Given the description of an element on the screen output the (x, y) to click on. 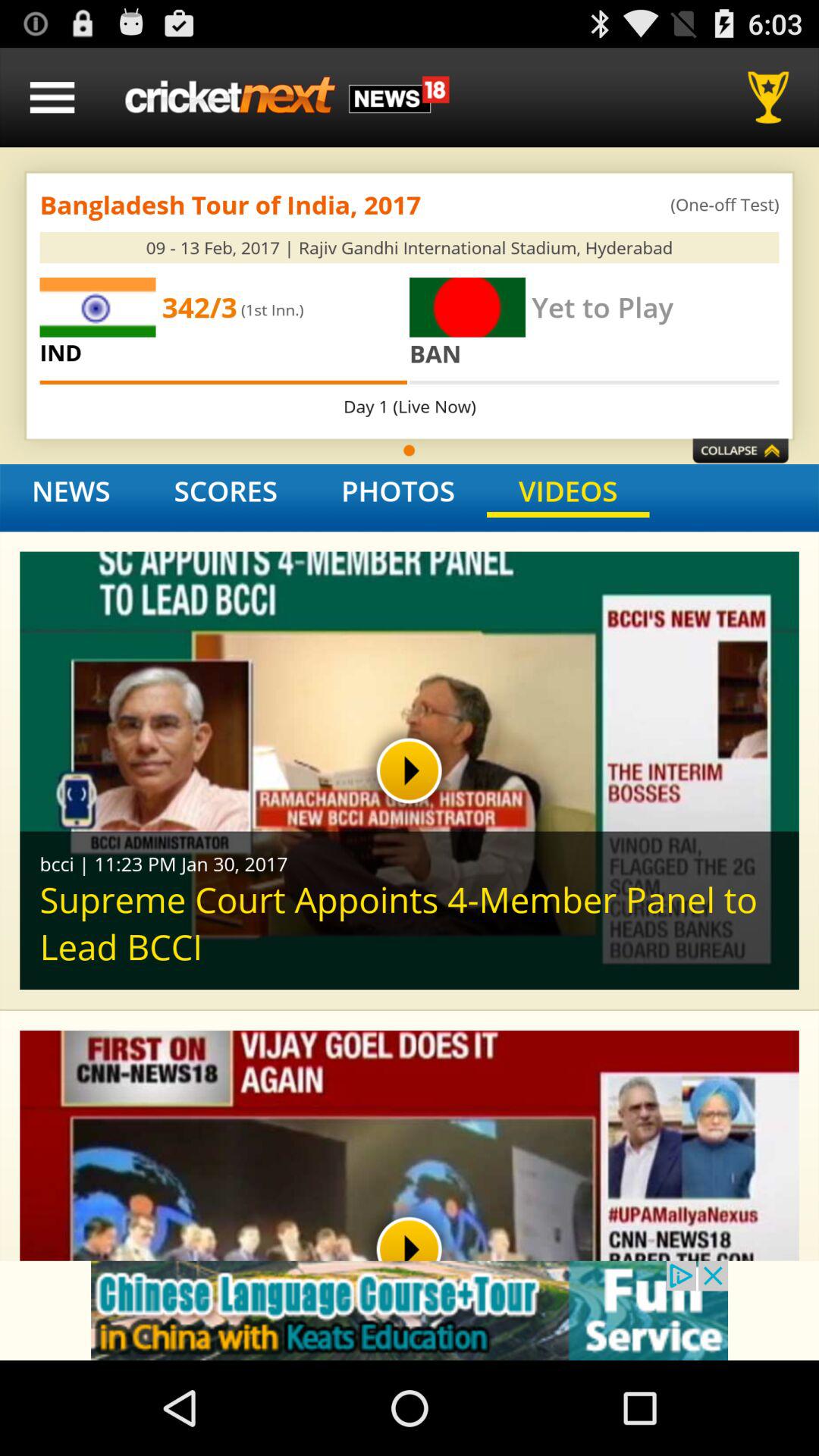
open menu (52, 97)
